Given the description of an element on the screen output the (x, y) to click on. 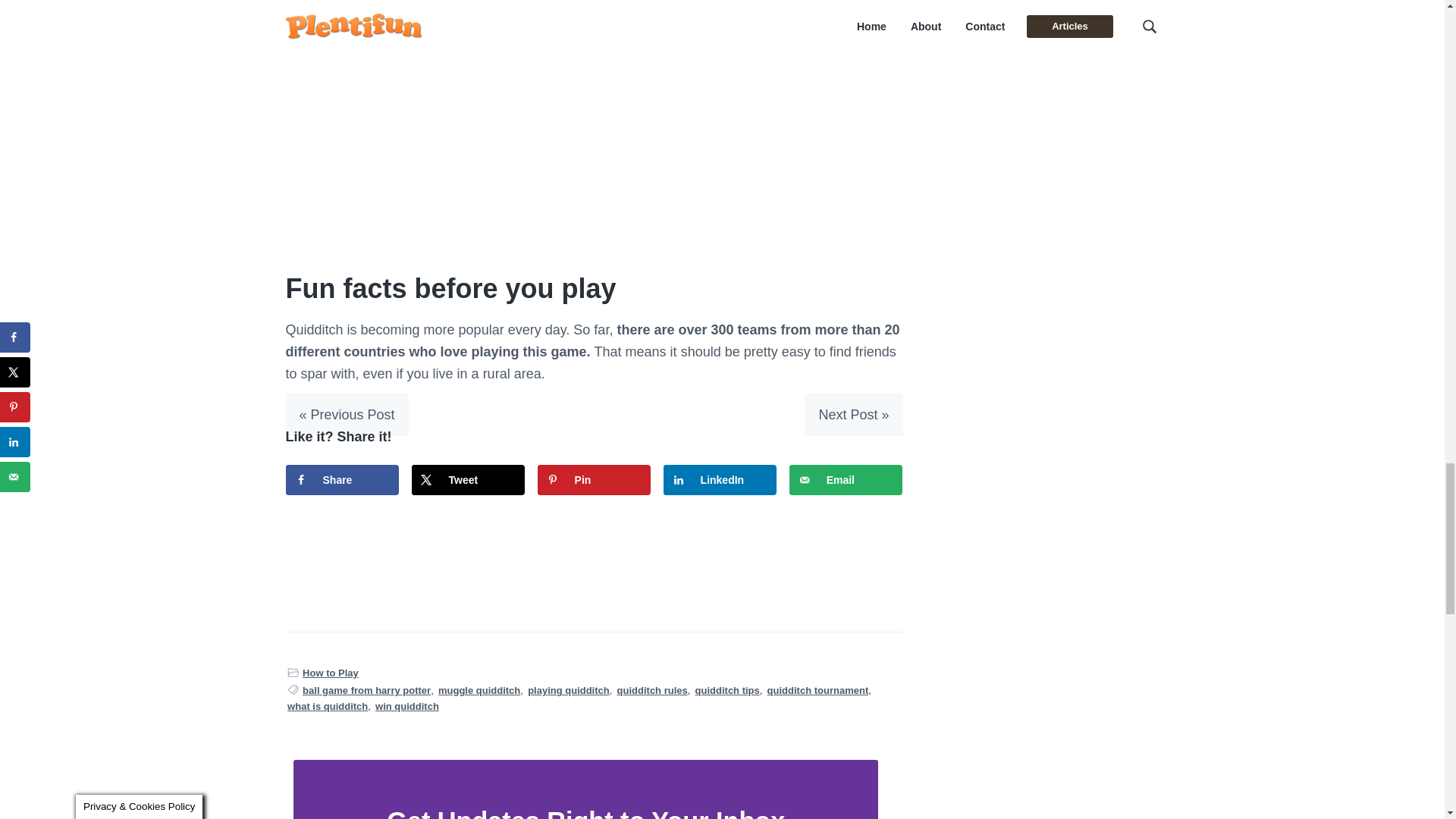
Tweet (468, 480)
quidditch rules (652, 690)
How to Play (330, 672)
Share on LinkedIn (720, 480)
ball game from harry potter (366, 690)
Send over email (845, 480)
muggle quidditch (478, 690)
LinkedIn (720, 480)
quidditch tournament (818, 690)
Save to Pinterest (593, 480)
quidditch tips (727, 690)
International Quidditch Association (577, 6)
playing quidditch (568, 690)
Email (845, 480)
what is quidditch (327, 706)
